Given the description of an element on the screen output the (x, y) to click on. 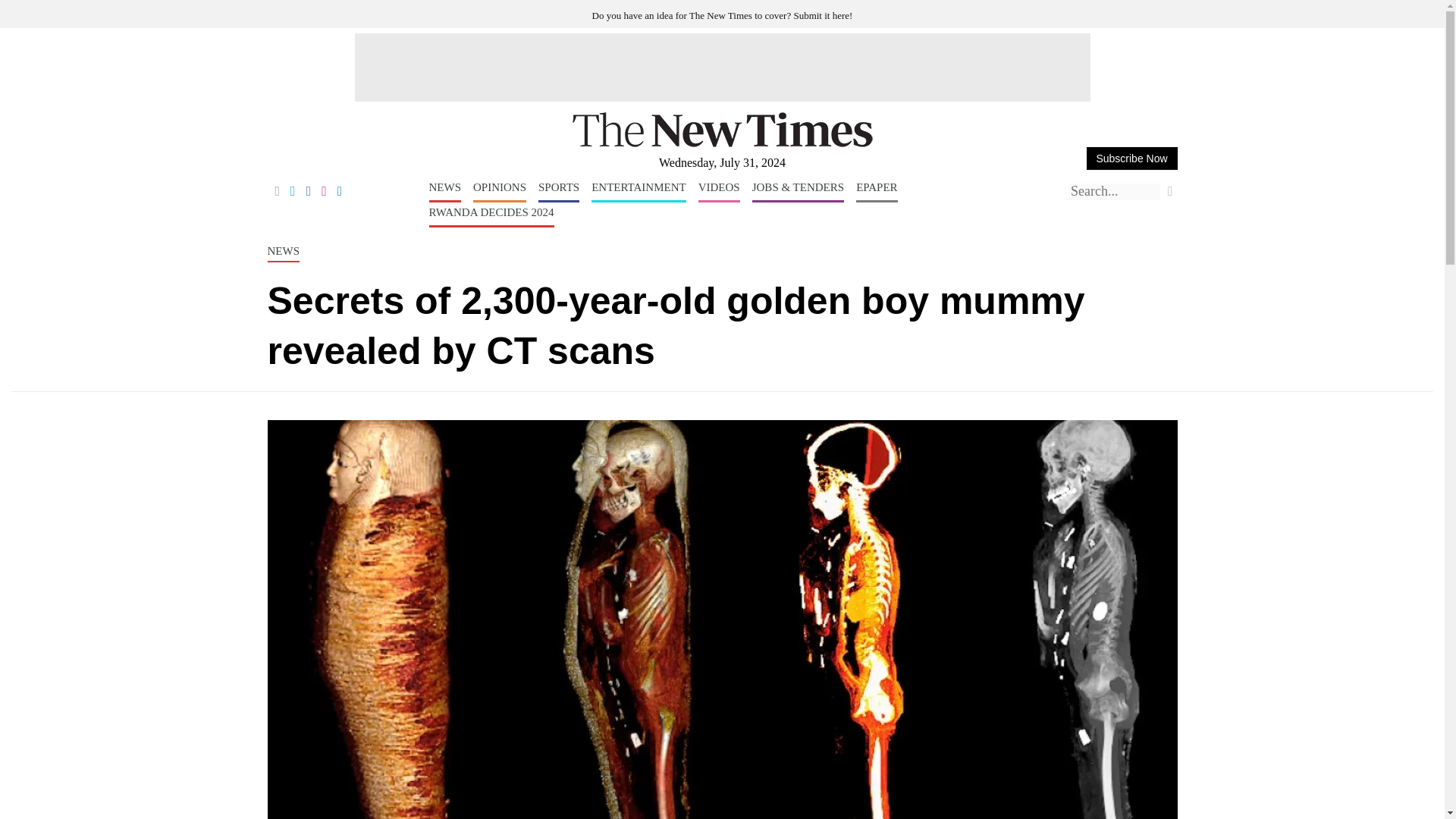
News (445, 191)
Subscribe Now (1131, 158)
SPORTS (558, 191)
OPINIONS (499, 191)
The New Times (721, 144)
Submit New Ideas (722, 15)
NEWS (445, 191)
